Given the description of an element on the screen output the (x, y) to click on. 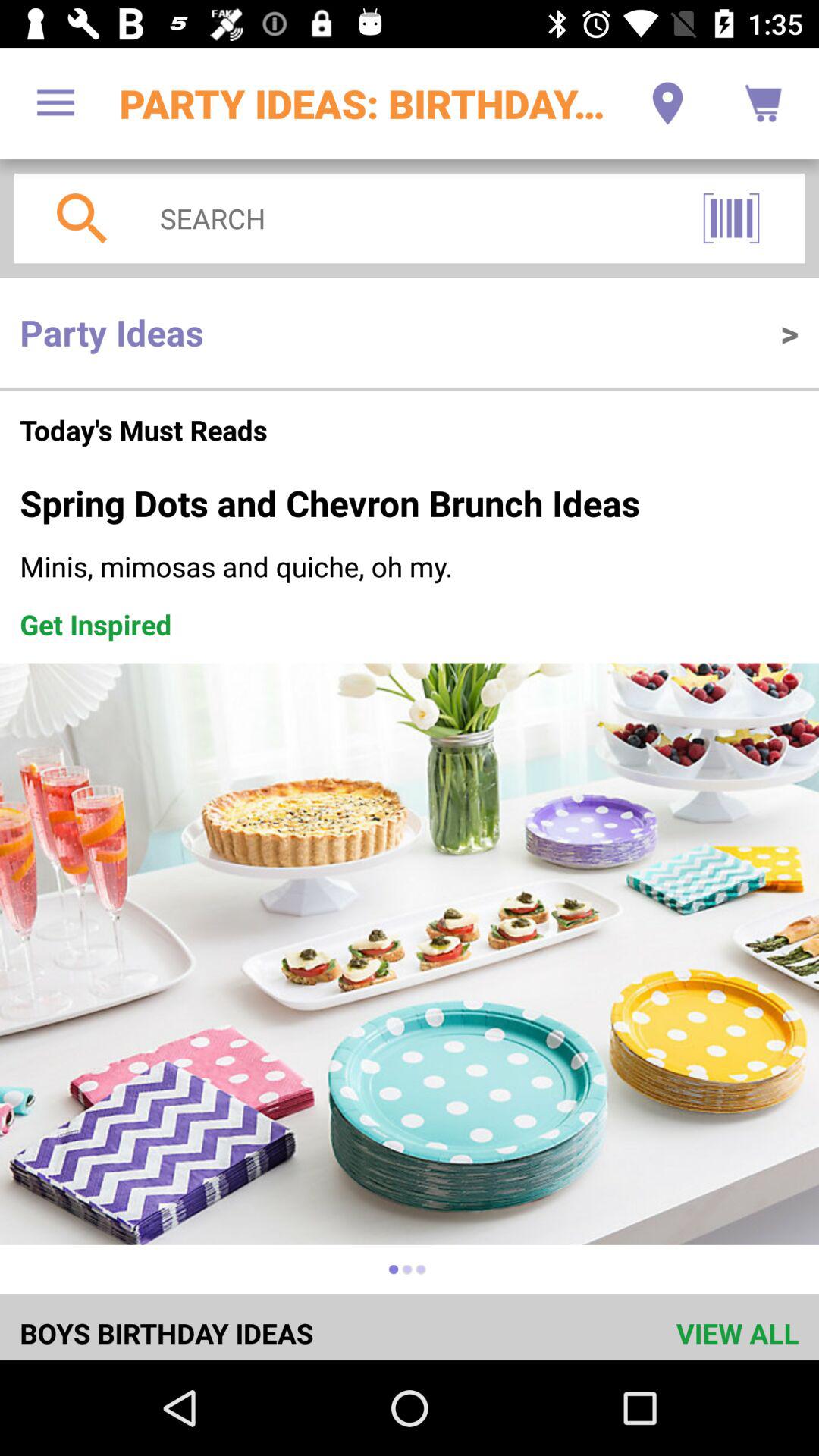
tap the get inspired icon (95, 624)
